Given the description of an element on the screen output the (x, y) to click on. 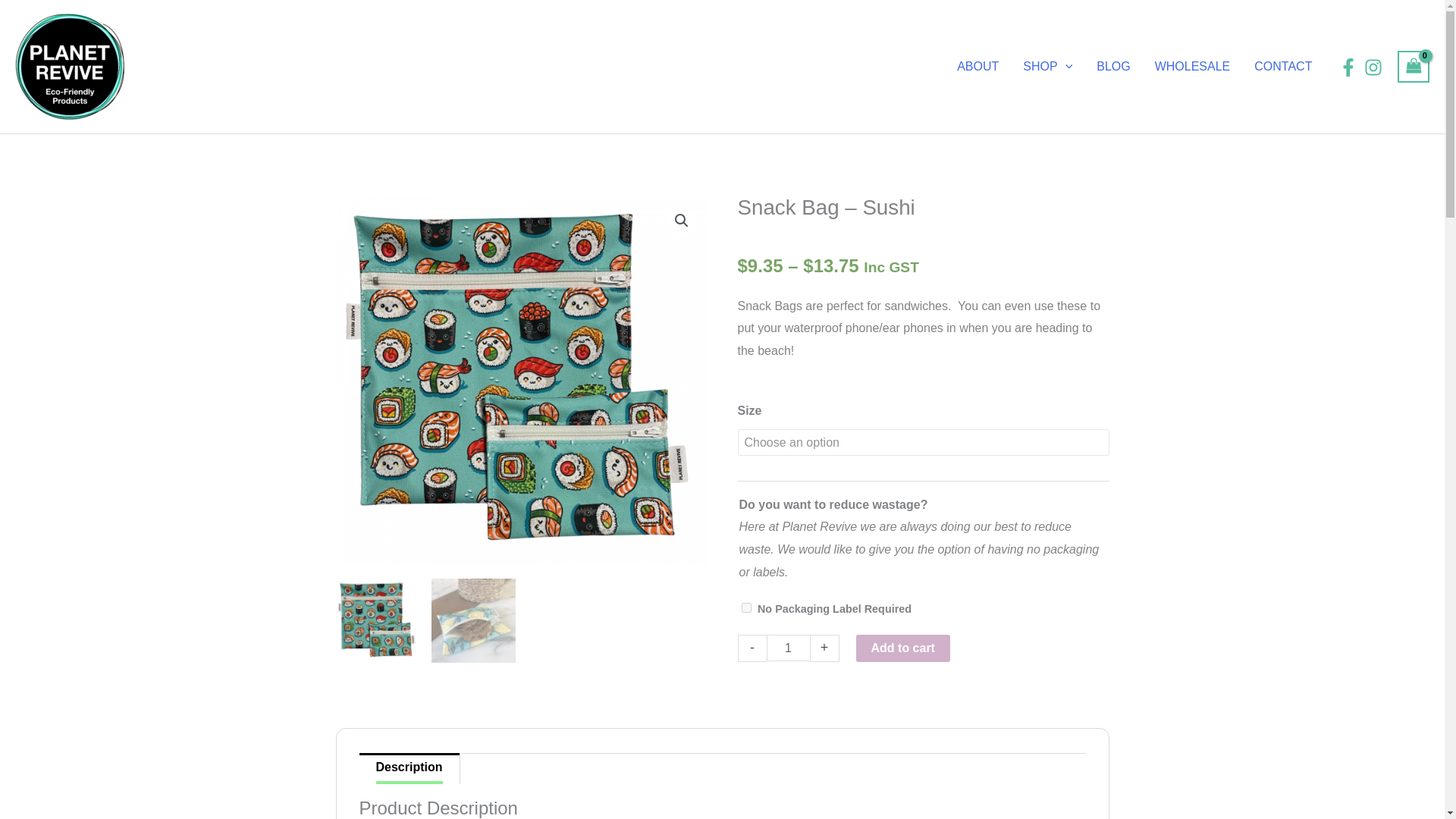
WHOLESALE (1192, 66)
- (750, 647)
BLOG (1112, 66)
CONTACT (1282, 66)
no-packaging-label-required (746, 607)
ABOUT (977, 66)
SHOP (1047, 66)
1 (787, 647)
